Given the description of an element on the screen output the (x, y) to click on. 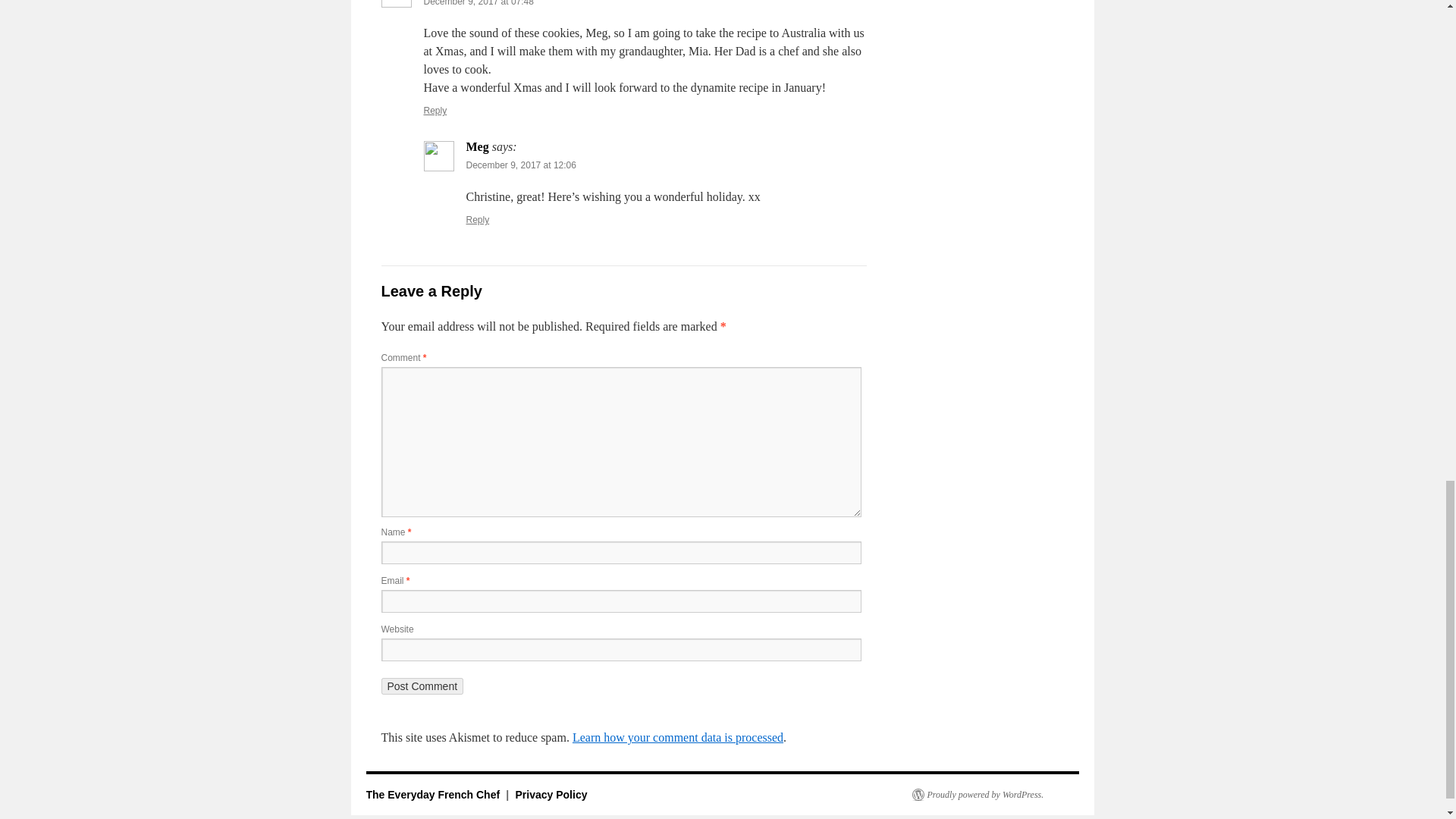
Semantic Personal Publishing Platform (977, 794)
Post Comment (421, 686)
